Given the description of an element on the screen output the (x, y) to click on. 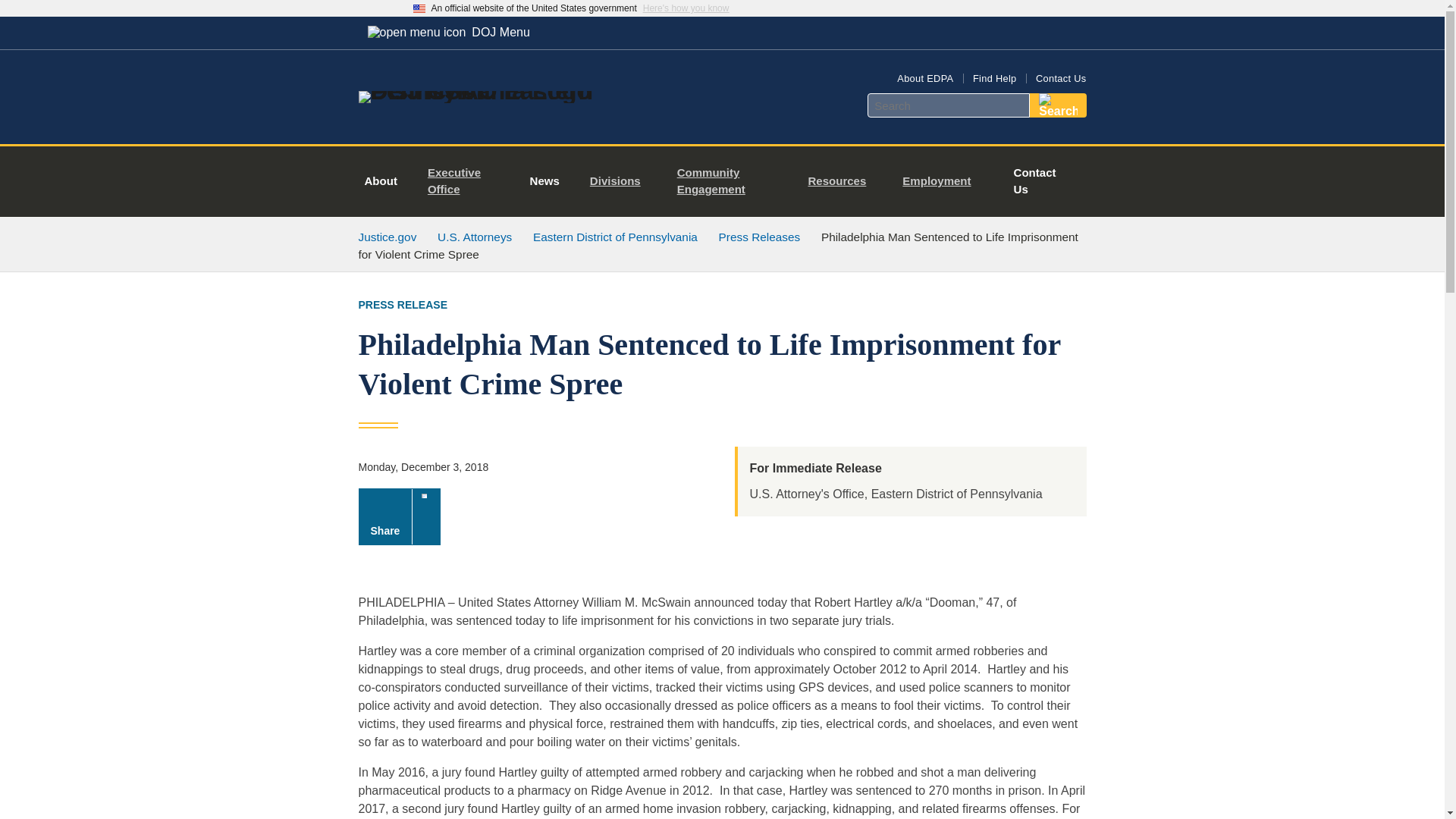
Contact Us (1034, 181)
Resources (841, 181)
Justice.gov (387, 236)
U.S. Attorneys (475, 236)
Home (481, 90)
Find Help (994, 78)
DOJ Menu (448, 32)
About (380, 181)
Eastern District of Pennsylvania (614, 236)
Divisions (621, 181)
About EDPA (924, 78)
Here's how you know (686, 8)
Contact Us (1060, 78)
Employment (941, 181)
Community Engagement (730, 181)
